Given the description of an element on the screen output the (x, y) to click on. 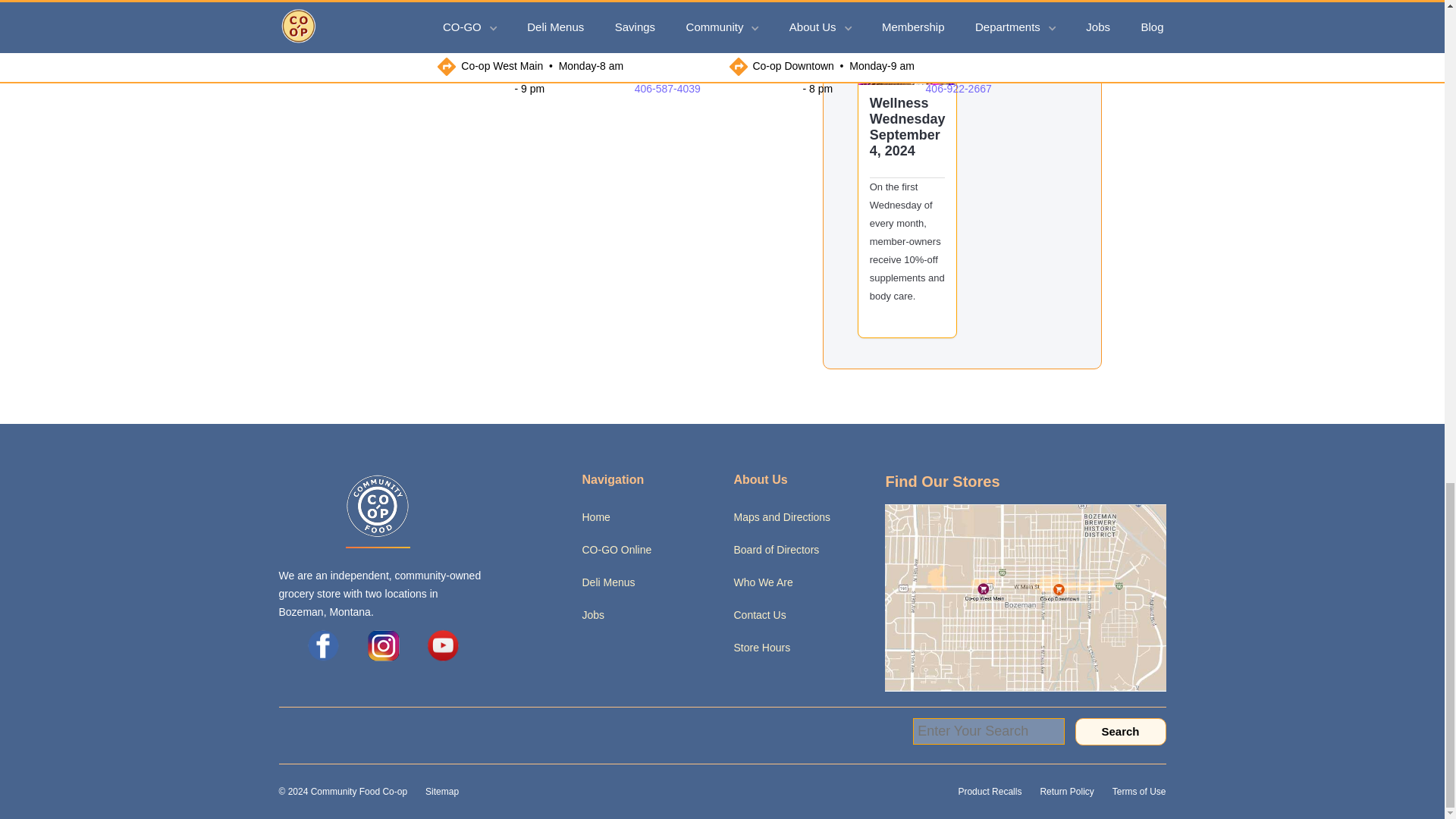
Search (1120, 731)
Co-op Facebook Page (322, 645)
Locations of both stores (1025, 596)
Search (1120, 731)
Co-op Instagram Page (383, 645)
Co-op YouTube Page (443, 645)
